Given the description of an element on the screen output the (x, y) to click on. 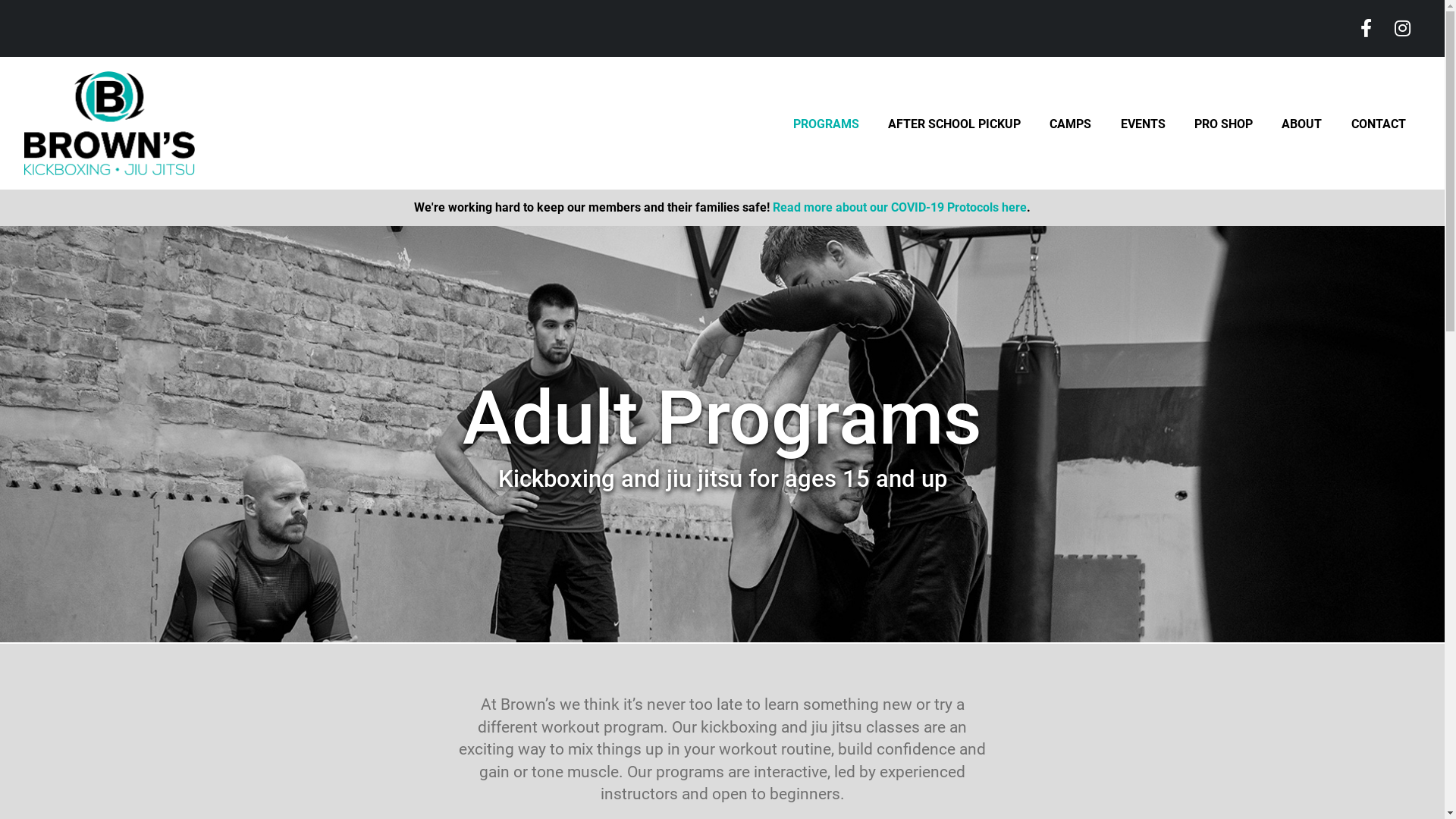
AFTER SCHOOL PICKUP Element type: text (954, 131)
ABOUT Element type: text (1301, 131)
PRO SHOP Element type: text (1223, 131)
CAMPS Element type: text (1070, 131)
EVENTS Element type: text (1142, 131)
PROGRAMS Element type: text (826, 131)
CONTACT Element type: text (1378, 131)
Read more about our COVID-19 Protocols here Element type: text (899, 207)
